Given the description of an element on the screen output the (x, y) to click on. 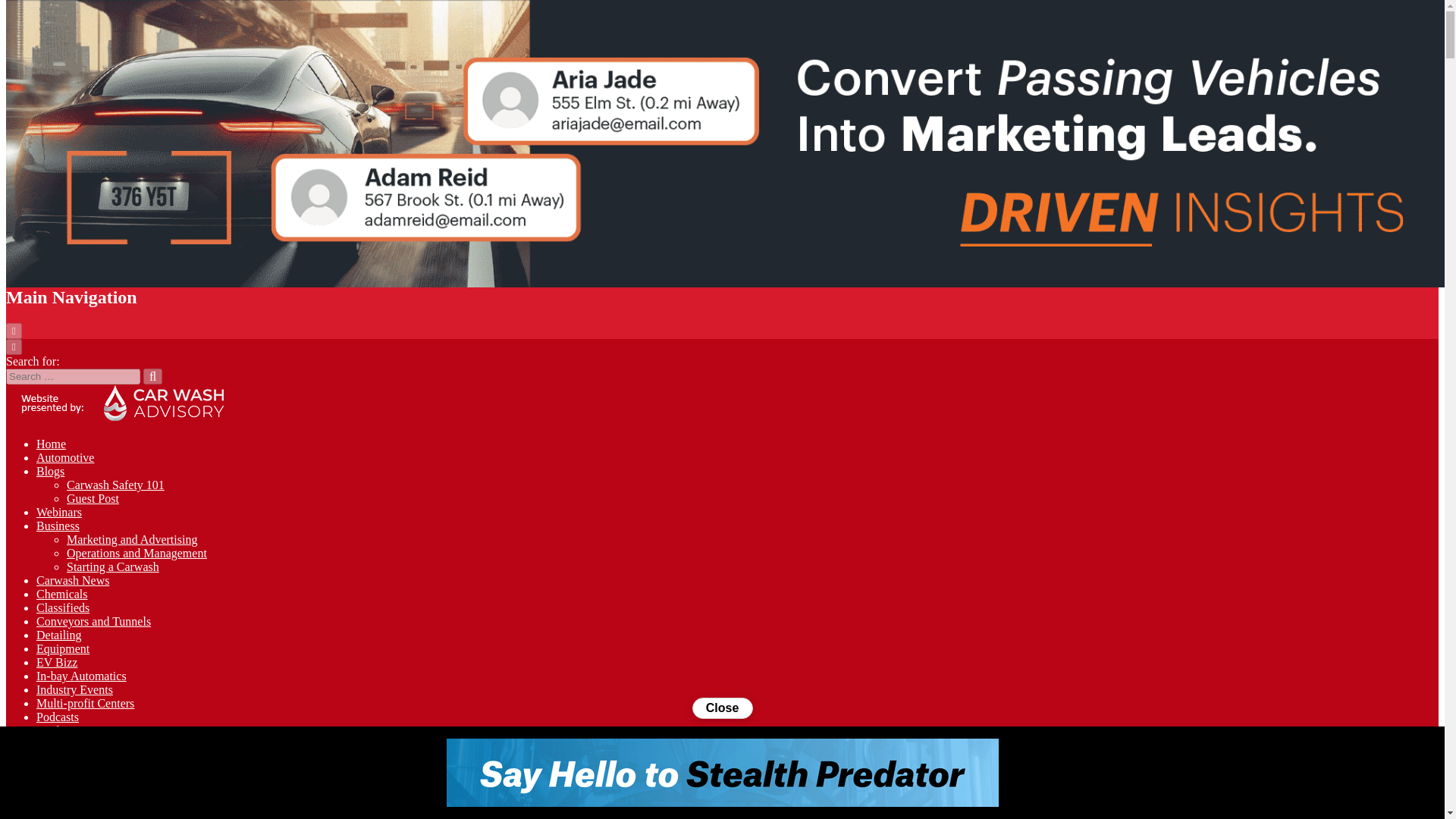
Operations and Management (136, 553)
Home (50, 443)
Blogs (50, 471)
Video (50, 744)
Chemicals (61, 594)
Webinars (58, 512)
Carwash News (72, 580)
Industry Events (74, 689)
Carwash Safety 101 (115, 484)
Classifieds (62, 607)
Chemicals (61, 594)
Equipment (62, 648)
In-bay Automatics (81, 675)
Rockstars (90, 784)
